Given the description of an element on the screen output the (x, y) to click on. 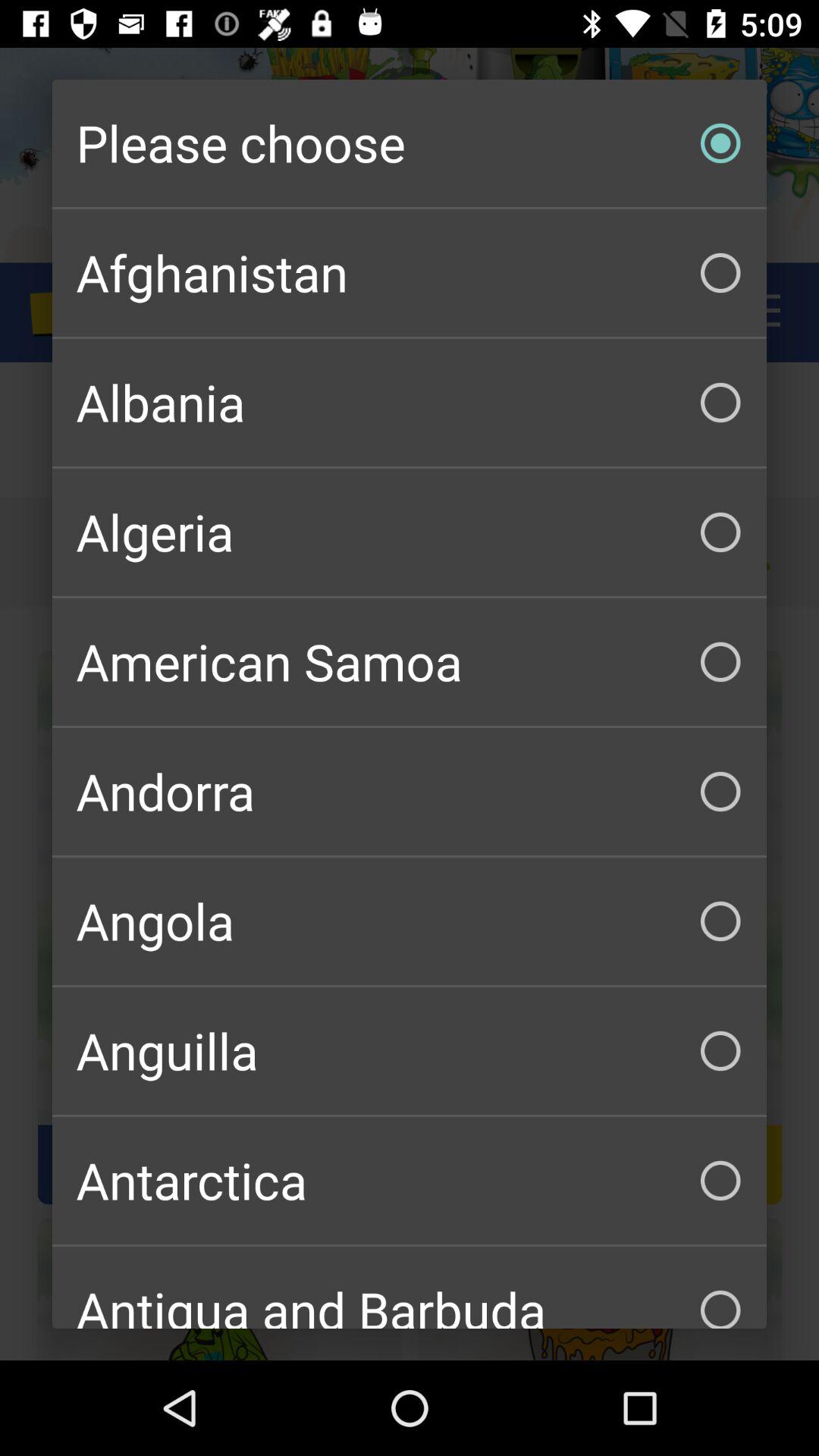
select the item below please choose item (409, 272)
